Given the description of an element on the screen output the (x, y) to click on. 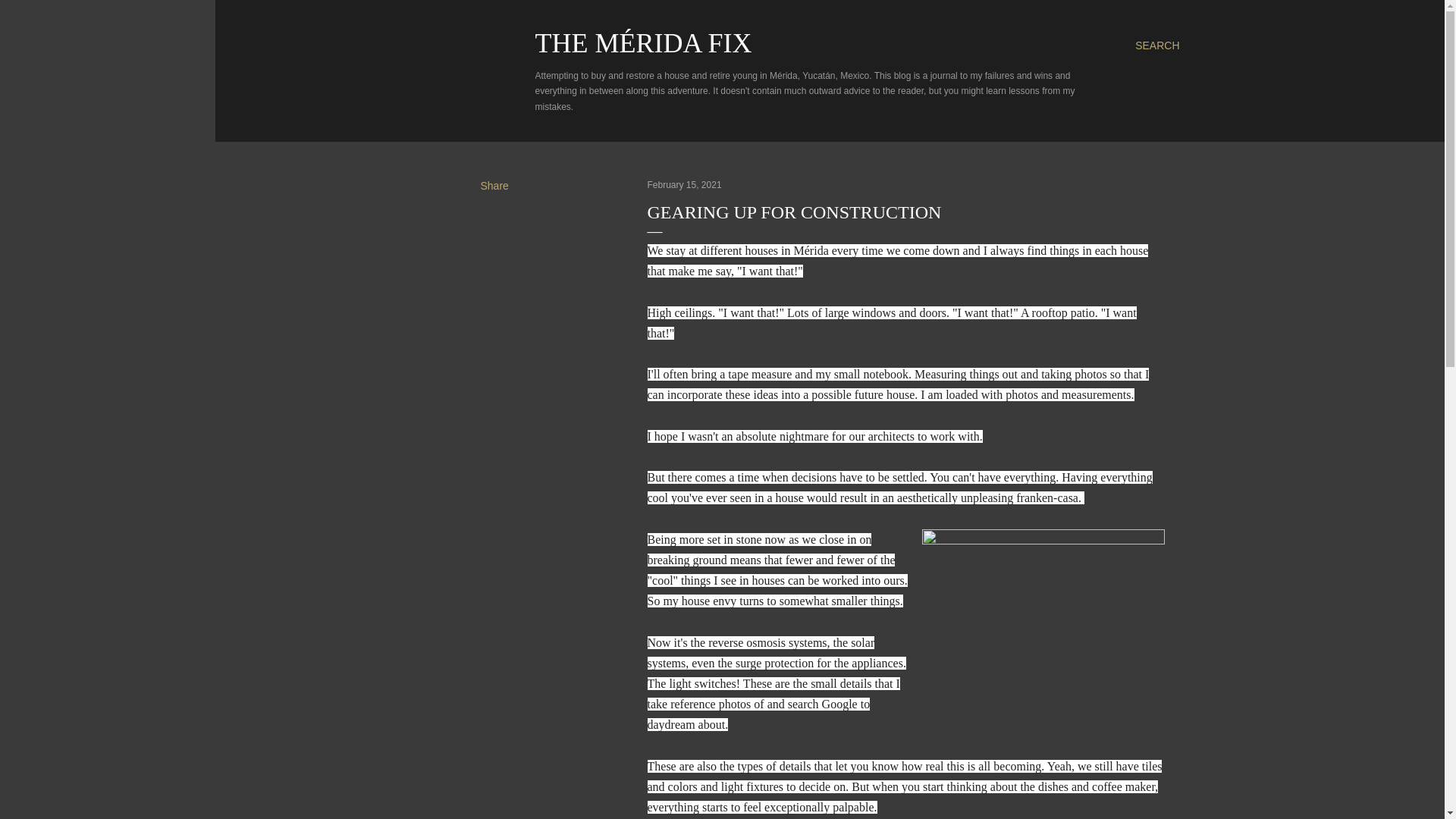
February 15, 2021 (684, 184)
Share (494, 185)
SEARCH (1157, 45)
permanent link (684, 184)
